Given the description of an element on the screen output the (x, y) to click on. 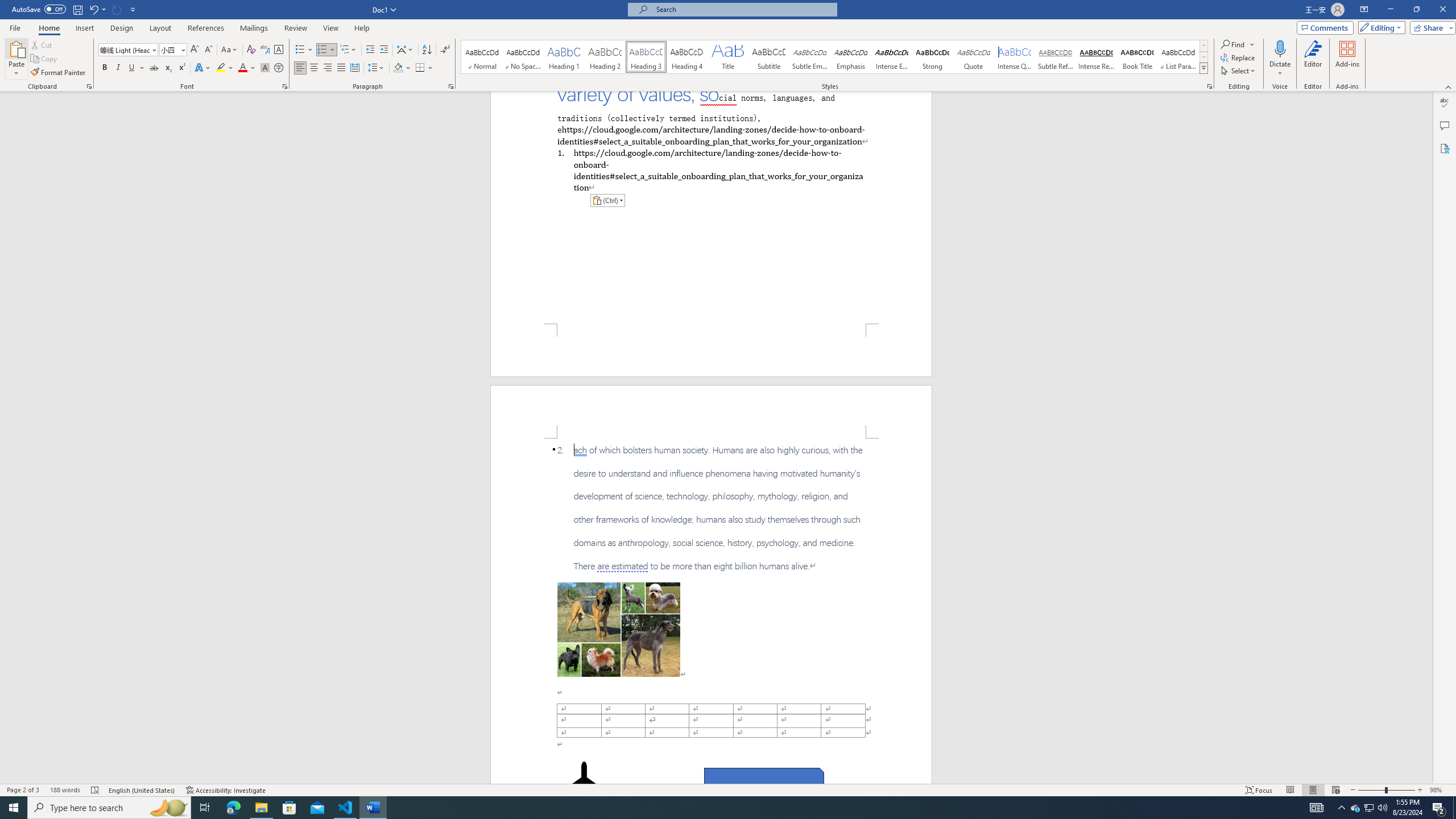
Heading 4 (686, 56)
Can't Repeat (117, 9)
Replace... (1237, 56)
1. (710, 169)
Airplane with solid fill (584, 783)
Microsoft search (742, 9)
Line and Paragraph Spacing (376, 67)
